Given the description of an element on the screen output the (x, y) to click on. 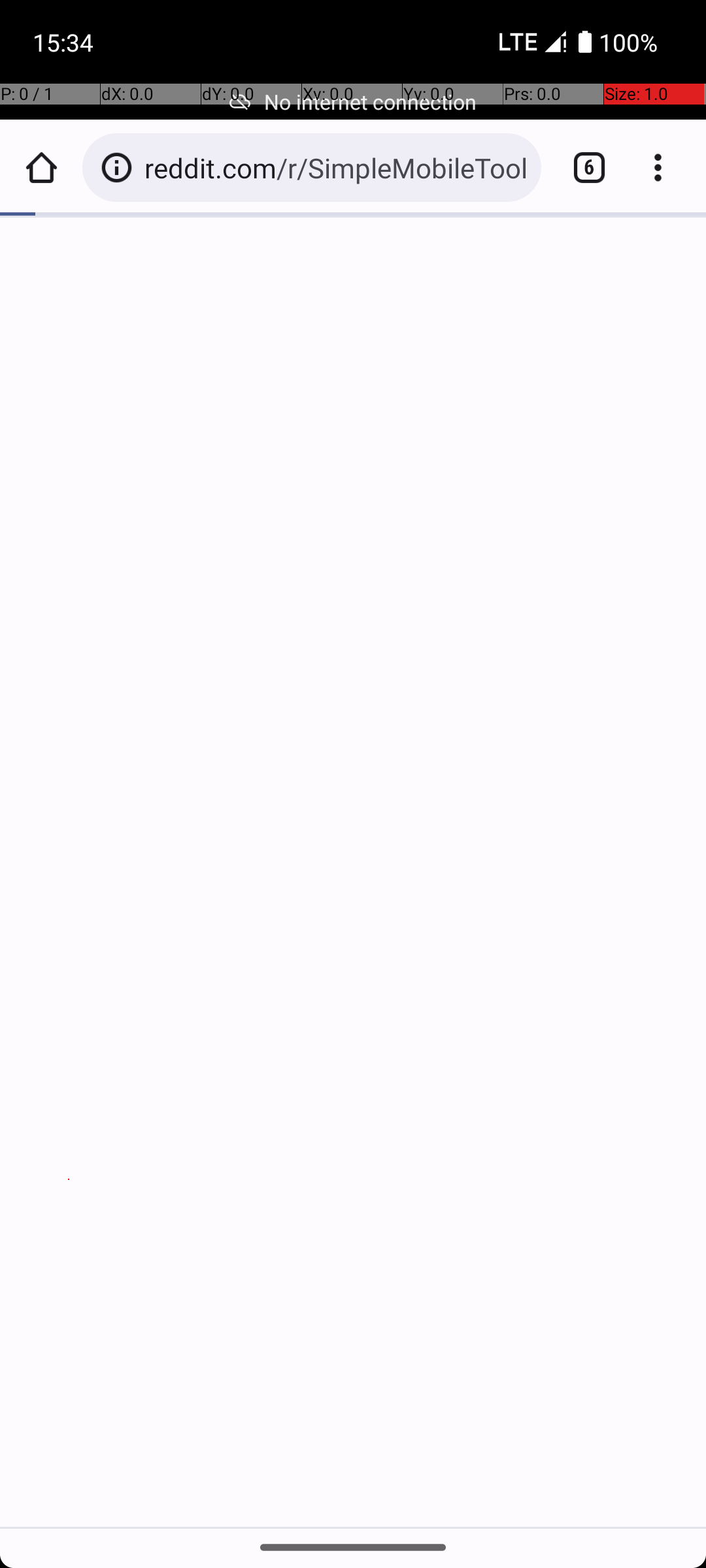
reddit.com/r/SimpleMobileTools Element type: android.widget.EditText (335, 167)
